Given the description of an element on the screen output the (x, y) to click on. 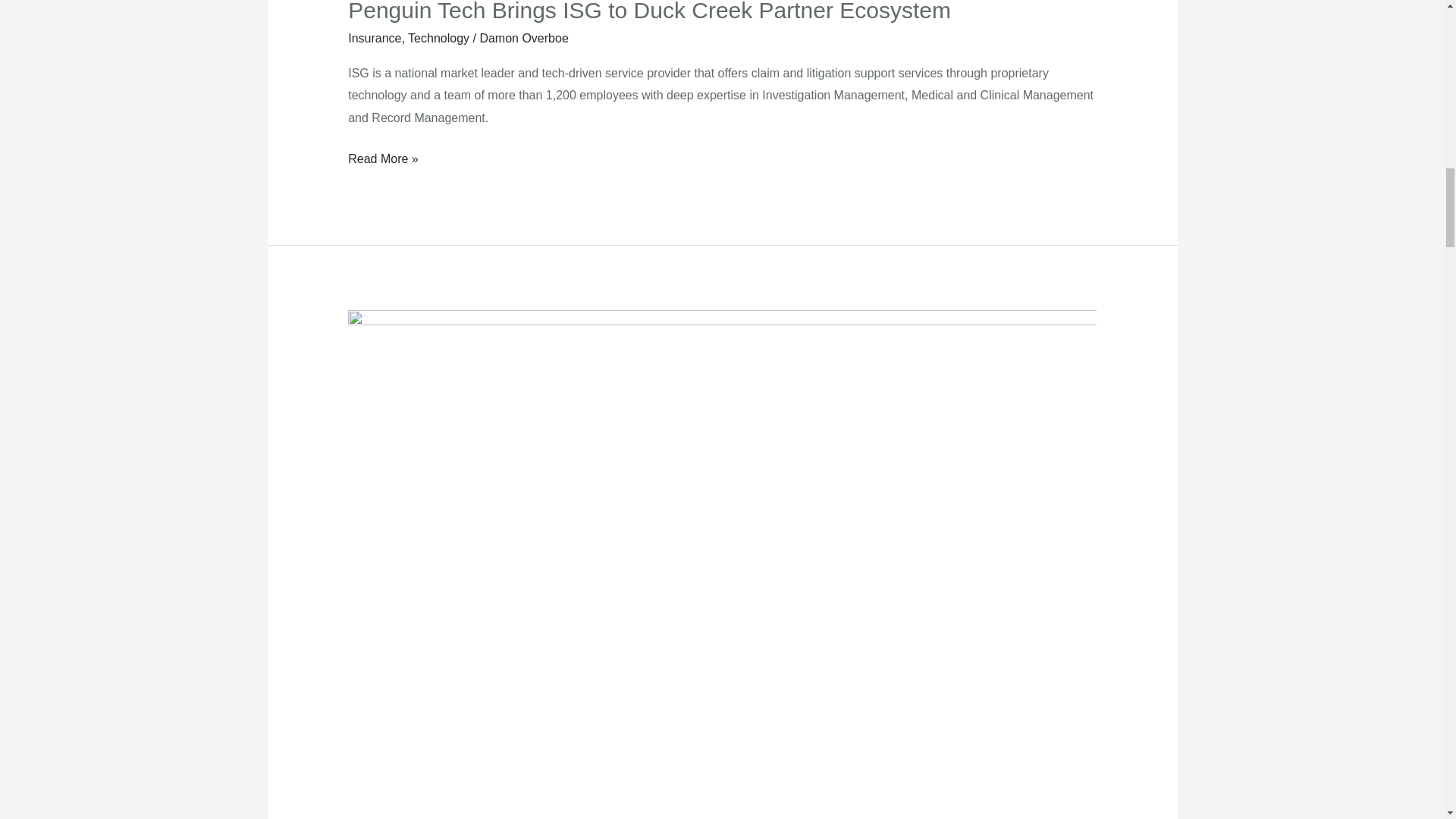
Technology (437, 38)
View all posts by Damon Overboe (523, 38)
Insurance (374, 38)
Penguin Tech Brings ISG to Duck Creek Partner Ecosystem (648, 11)
Damon Overboe (523, 38)
